Given the description of an element on the screen output the (x, y) to click on. 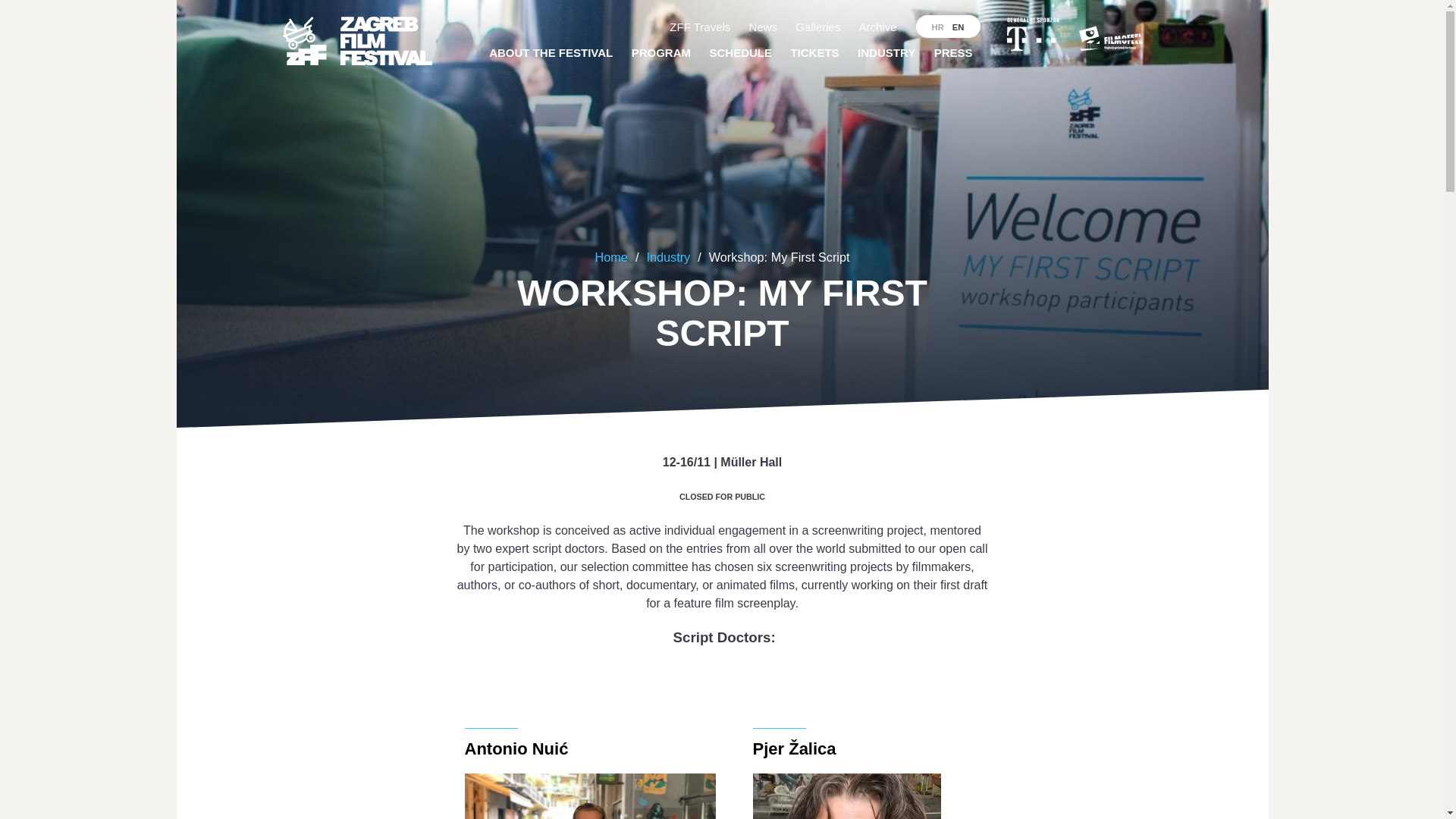
ZFF Travels (700, 26)
Galleries (817, 26)
EN (963, 25)
Home (611, 256)
Archive (877, 26)
TICKETS (814, 52)
SCHEDULE (739, 52)
HR (932, 25)
INDUSTRY (886, 52)
PROGRAM (661, 52)
